Given the description of an element on the screen output the (x, y) to click on. 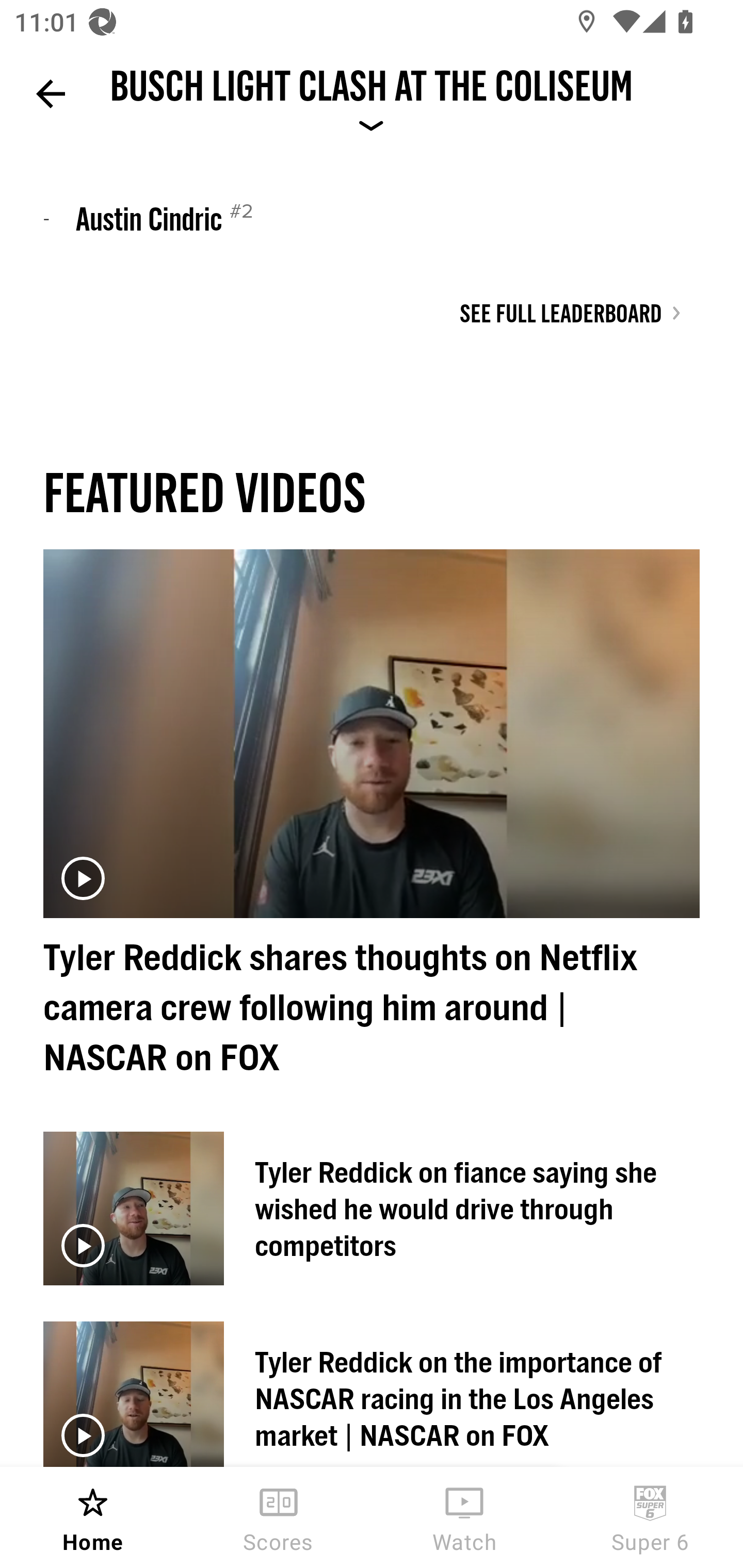
Navigate up (50, 93)
- Austin Cindric #2 (371, 217)
SEE FULL LEADERBOARD (571, 312)
FEATURED VIDEOS (204, 491)
Scores (278, 1517)
Watch (464, 1517)
Super 6 (650, 1517)
